Given the description of an element on the screen output the (x, y) to click on. 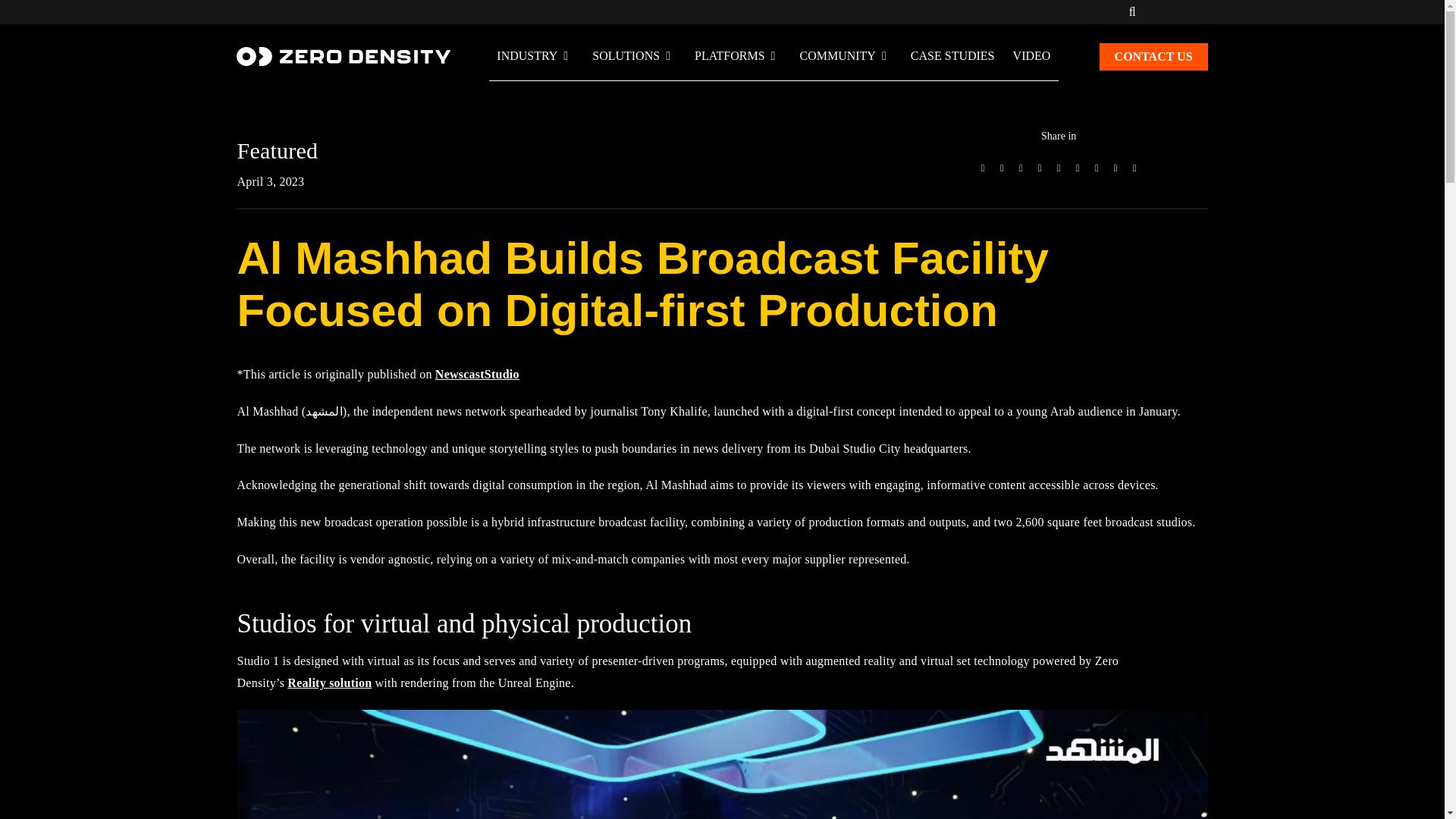
PLATFORMS (737, 56)
INDUSTRY (534, 56)
SOLUTIONS (634, 56)
